Given the description of an element on the screen output the (x, y) to click on. 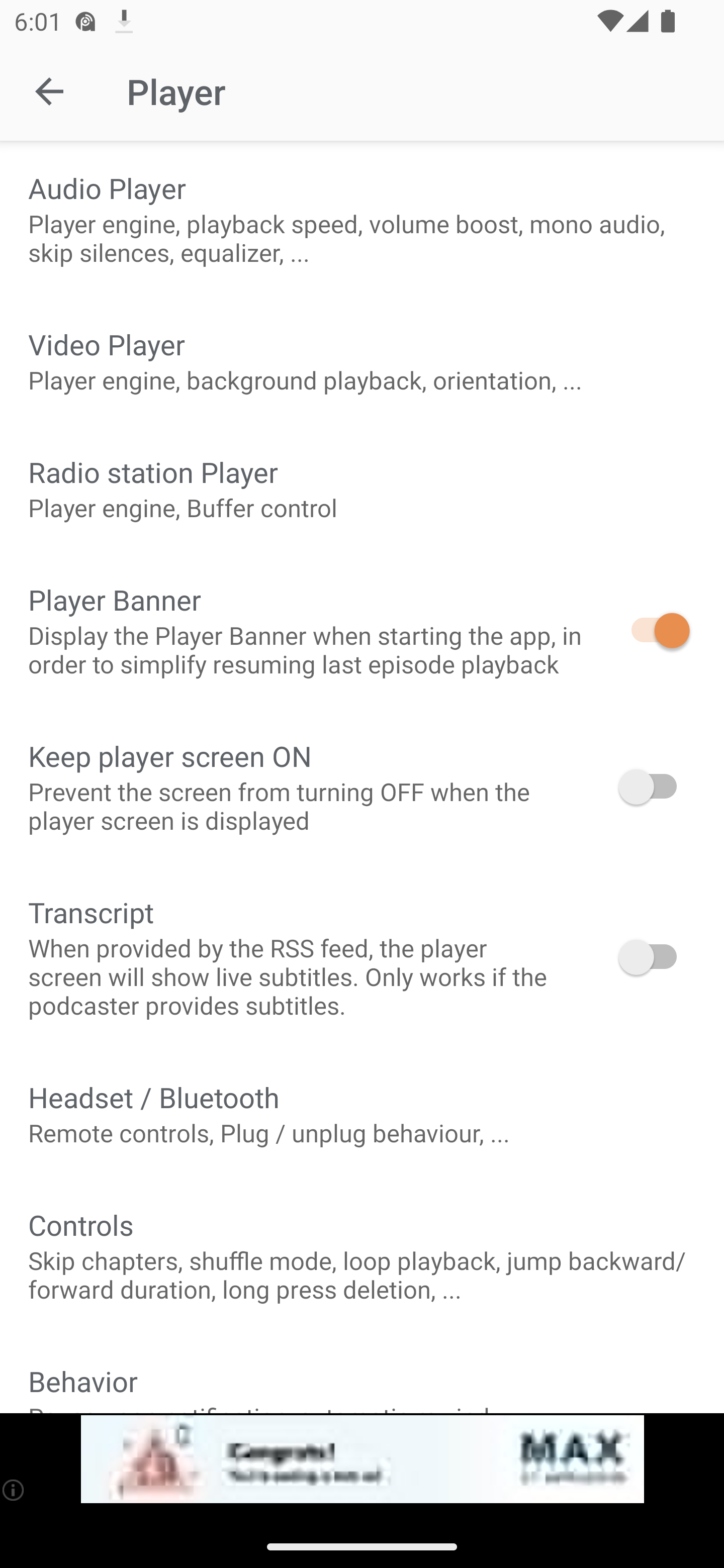
Navigate up (49, 91)
Radio station Player Player engine, Buffer control (362, 487)
app-monetization (362, 1459)
(i) (14, 1489)
